Given the description of an element on the screen output the (x, y) to click on. 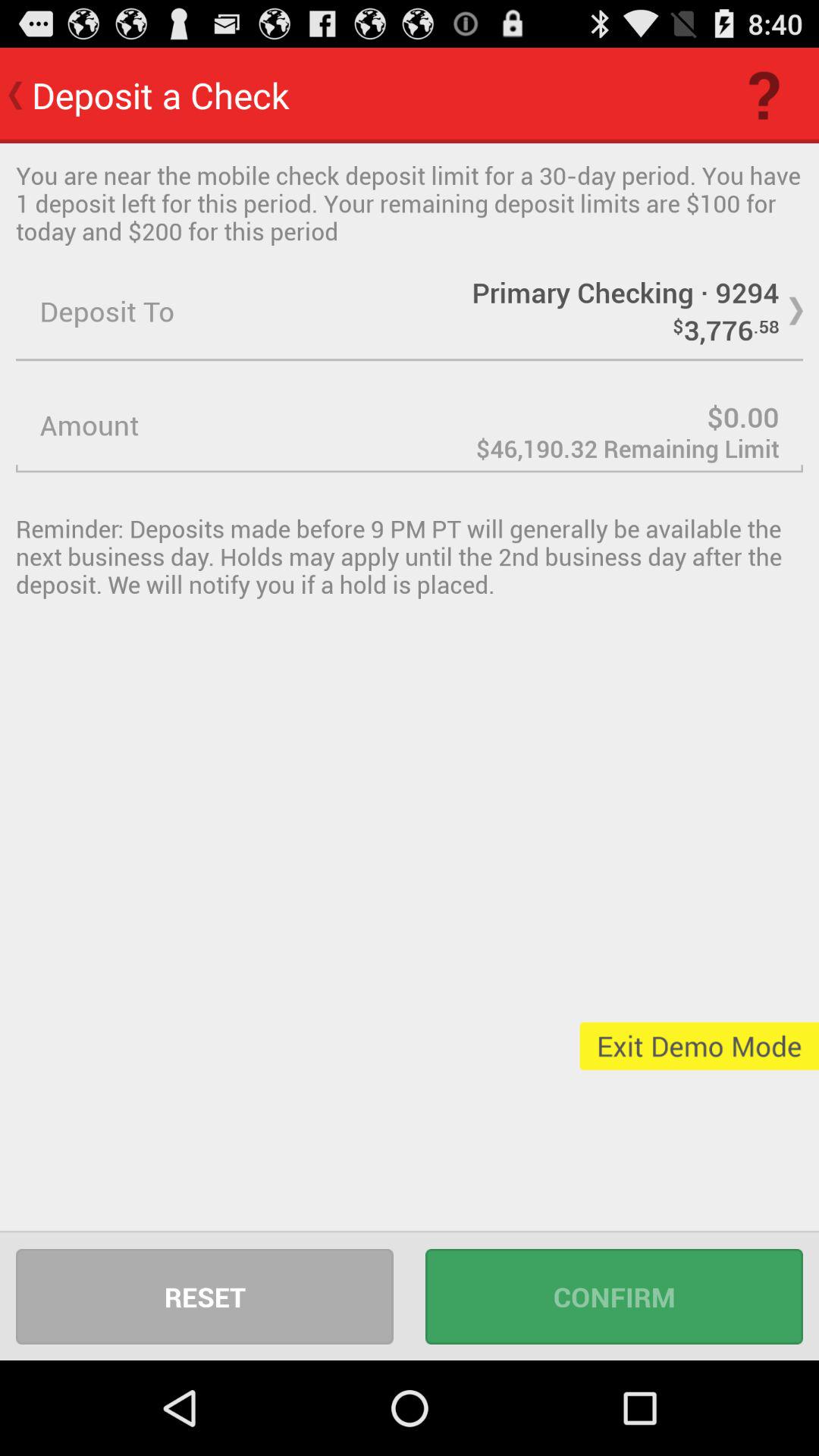
total sum (409, 424)
